Given the description of an element on the screen output the (x, y) to click on. 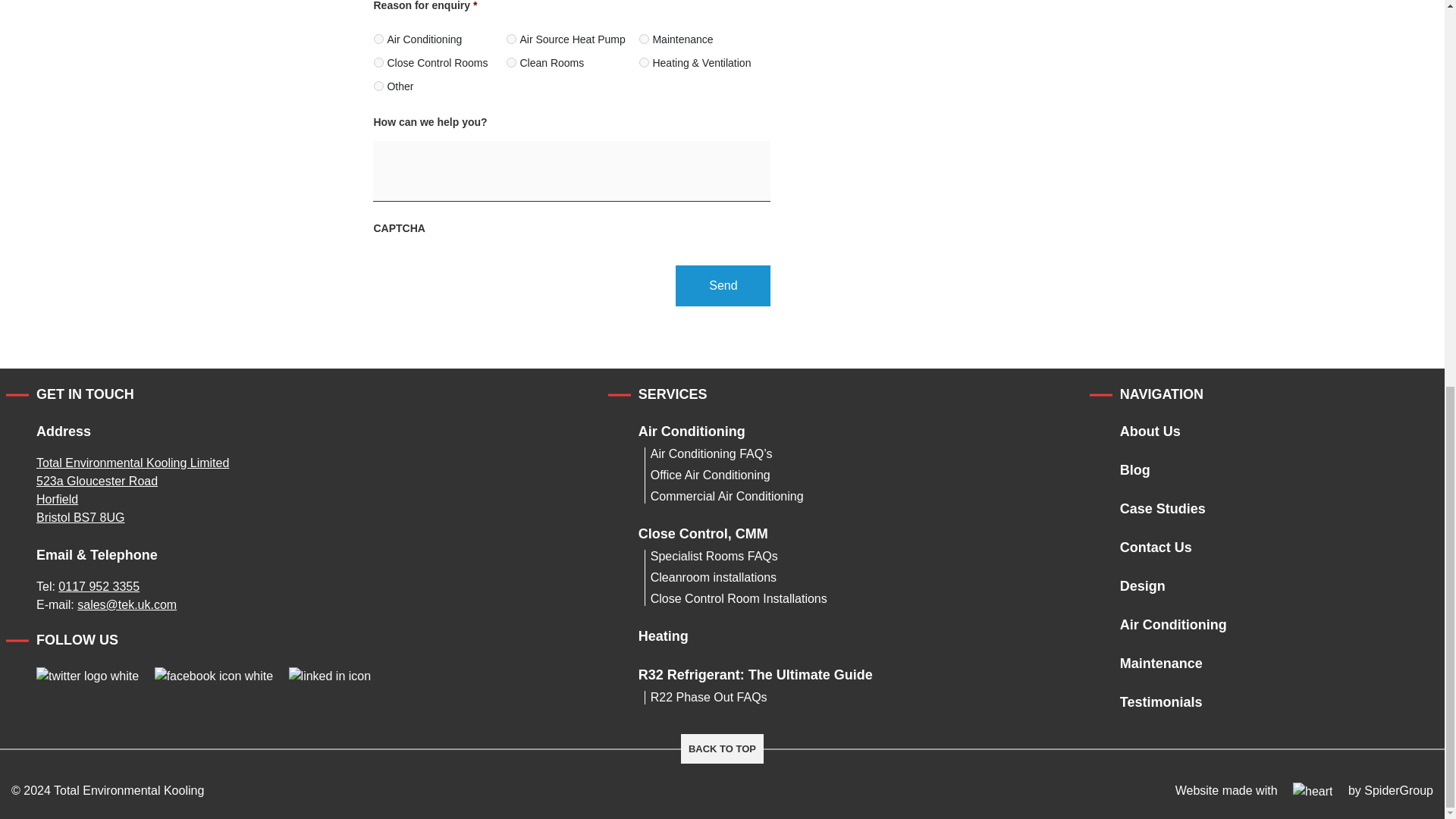
Clean Rooms (511, 62)
Close Control Rooms (379, 62)
Air Source Heat Pump (511, 39)
Other (379, 85)
Send (722, 285)
Maintenance (644, 39)
Air Conditioning (379, 39)
